Given the description of an element on the screen output the (x, y) to click on. 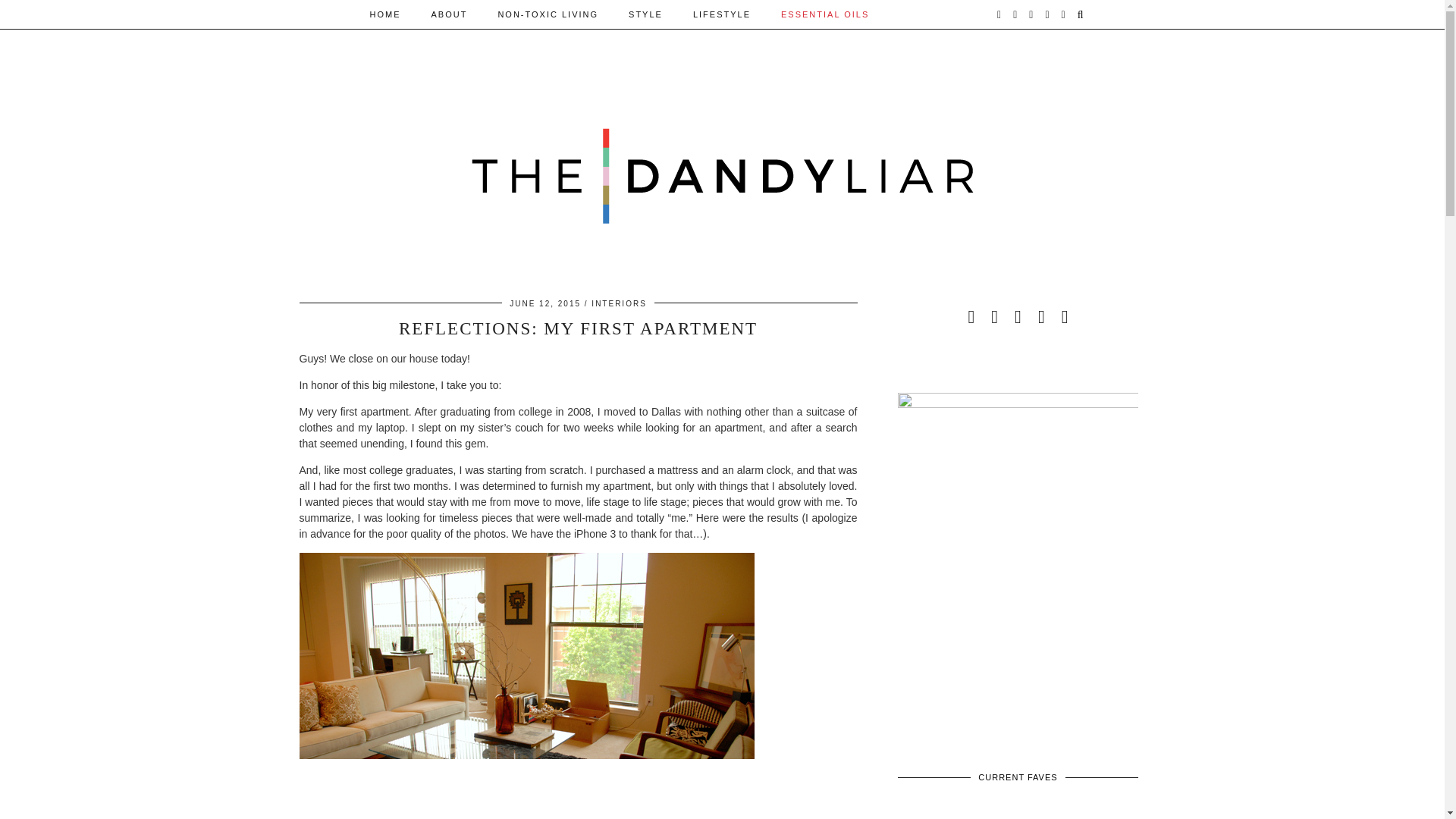
INTERIORS (618, 303)
NON-TOXIC LIVING (546, 14)
ESSENTIAL OILS (824, 14)
HOME (385, 14)
ABOUT (447, 14)
LIFESTYLE (721, 14)
STYLE (645, 14)
